Given the description of an element on the screen output the (x, y) to click on. 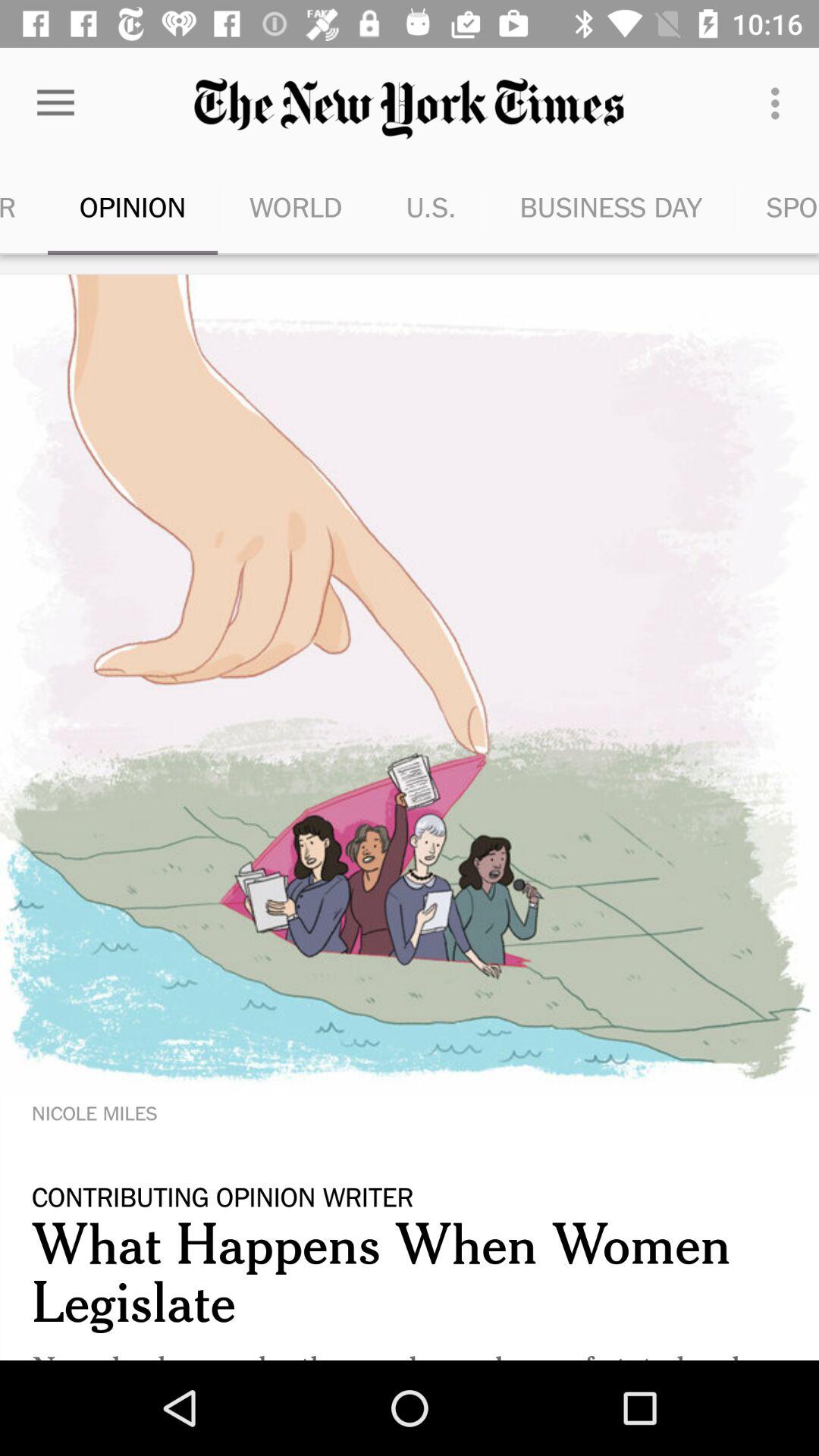
launch the icon next to opinion (295, 206)
